Given the description of an element on the screen output the (x, y) to click on. 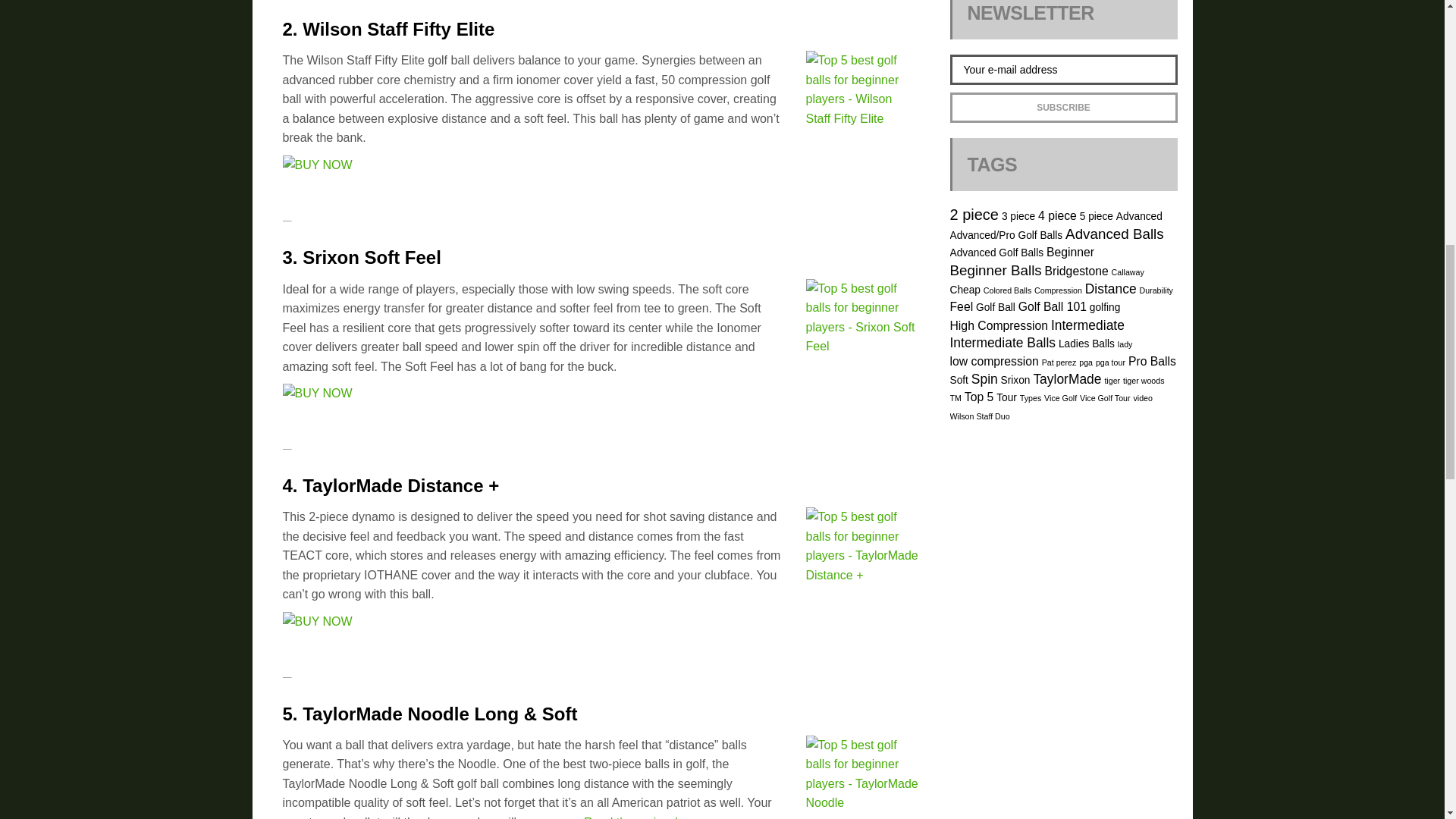
SUBSCRIBE (1062, 107)
